Given the description of an element on the screen output the (x, y) to click on. 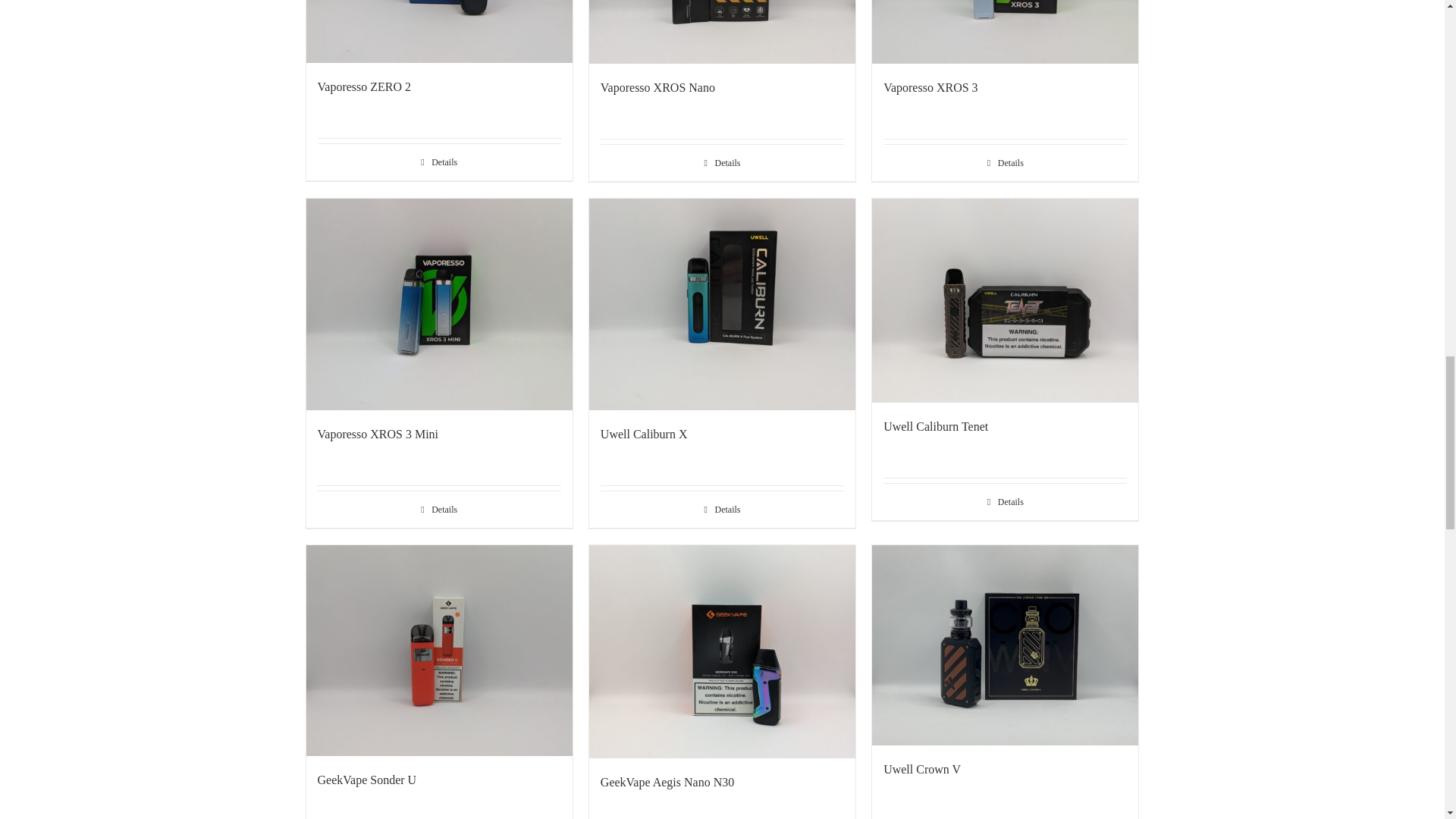
Details (438, 161)
Vaporesso XROS 3 (929, 87)
Details (721, 162)
Vaporesso XROS Nano (656, 87)
Vaporesso ZERO 2 (363, 86)
